Given the description of an element on the screen output the (x, y) to click on. 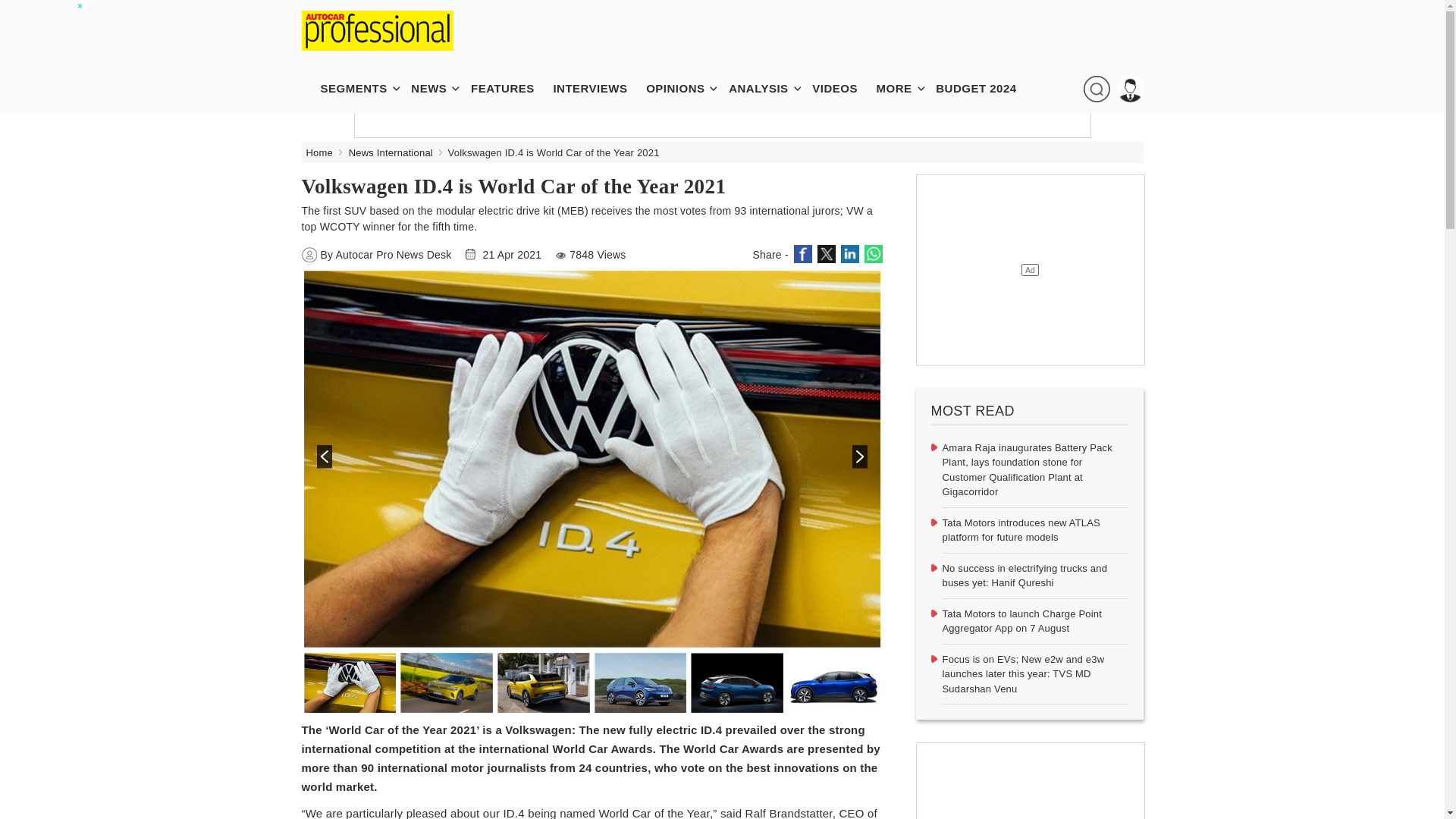
FEATURES (510, 88)
NEWS (435, 88)
ANALYSIS (765, 88)
INTERVIEWS (596, 88)
OPINIONS (682, 88)
MORE (901, 88)
VIDEOS (842, 88)
SEGMENTS (361, 88)
BUDGET 2024 (983, 88)
